Given the description of an element on the screen output the (x, y) to click on. 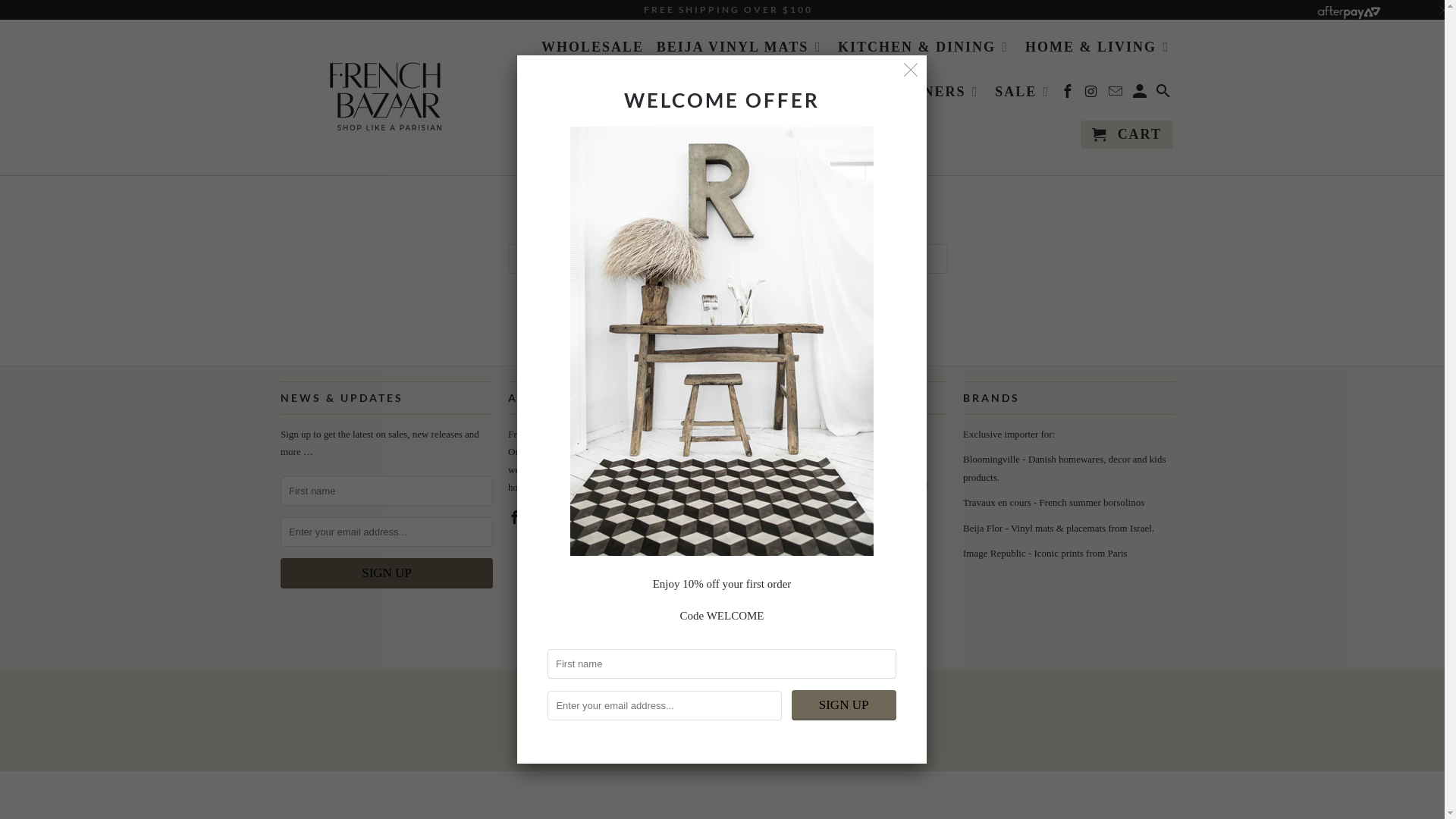
CART Element type: text (1126, 134)
Frenchbazaar  on Facebook Element type: hover (1068, 94)
Search Element type: hover (1164, 94)
Email Frenchbazaar  Element type: hover (797, 616)
Return & Refund Element type: text (769, 585)
WHOLESALE Element type: text (592, 49)
Frenchbazaar  on Facebook Element type: hover (743, 616)
Frenchbazaar  on Instagram Element type: hover (1093, 94)
Sign Up Element type: text (386, 573)
Email Frenchbazaar  Element type: hover (569, 517)
Frenchbazaar  Element type: hover (386, 97)
Frenchbazaar  on Instagram Element type: hover (543, 517)
Frenchbazaar  on Facebook Element type: hover (516, 517)
Powered by Shopify Element type: text (809, 703)
Sign Up Element type: text (843, 705)
Email Frenchbazaar  Element type: hover (1116, 94)
Close Element type: hover (910, 70)
Frenchbazaar  on Instagram Element type: hover (770, 616)
Frenchbazaar Element type: text (664, 703)
My Account  Element type: hover (1140, 94)
